Given the description of an element on the screen output the (x, y) to click on. 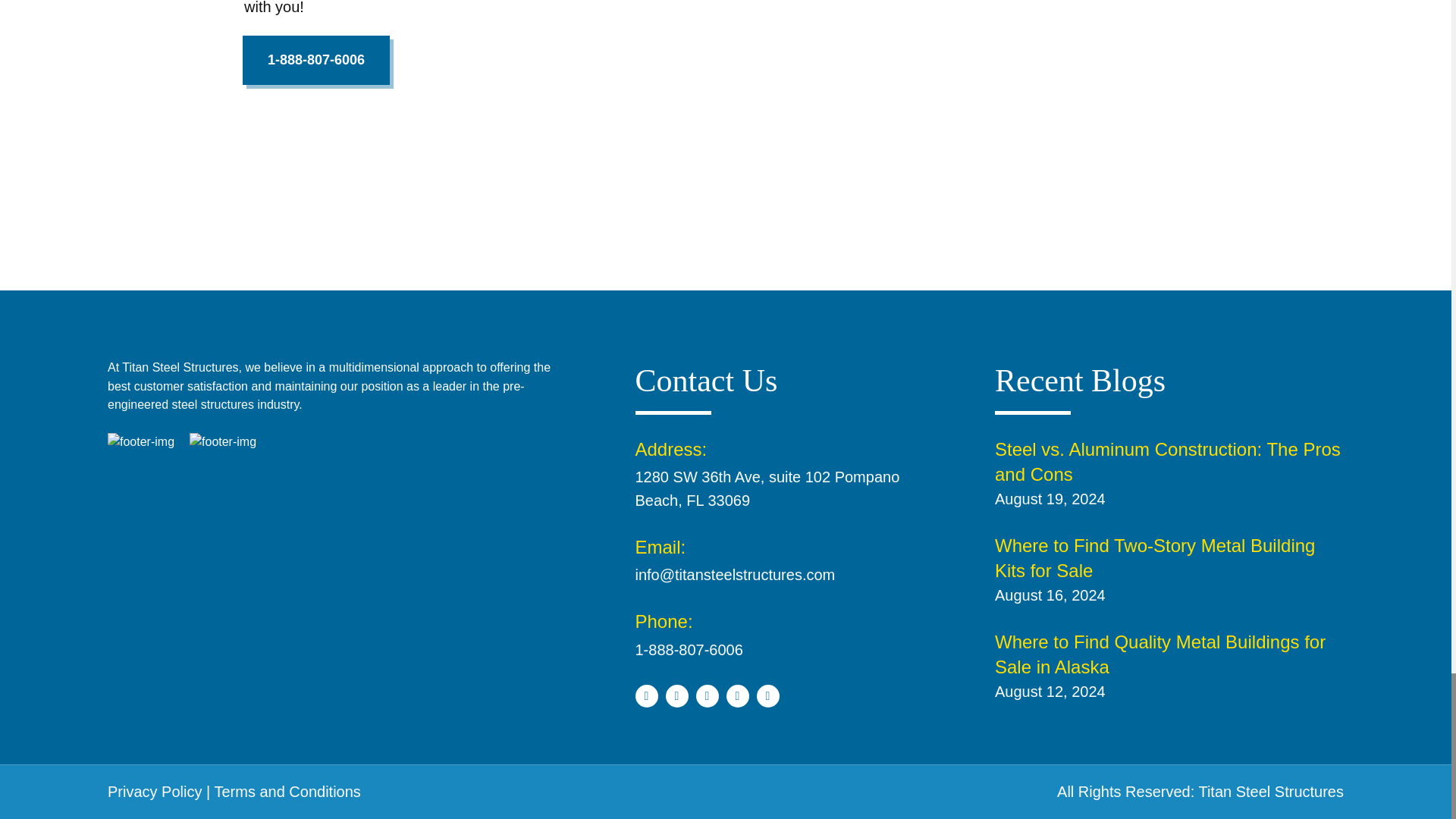
Steel vs. Aluminum Construction: The Pros and Cons (1167, 461)
Where to Find Two-Story Metal Building Kits for Sale (1154, 557)
Where to Find Quality Metal Buildings for Sale in Alaska (1159, 654)
Google Map (332, 573)
